Given the description of an element on the screen output the (x, y) to click on. 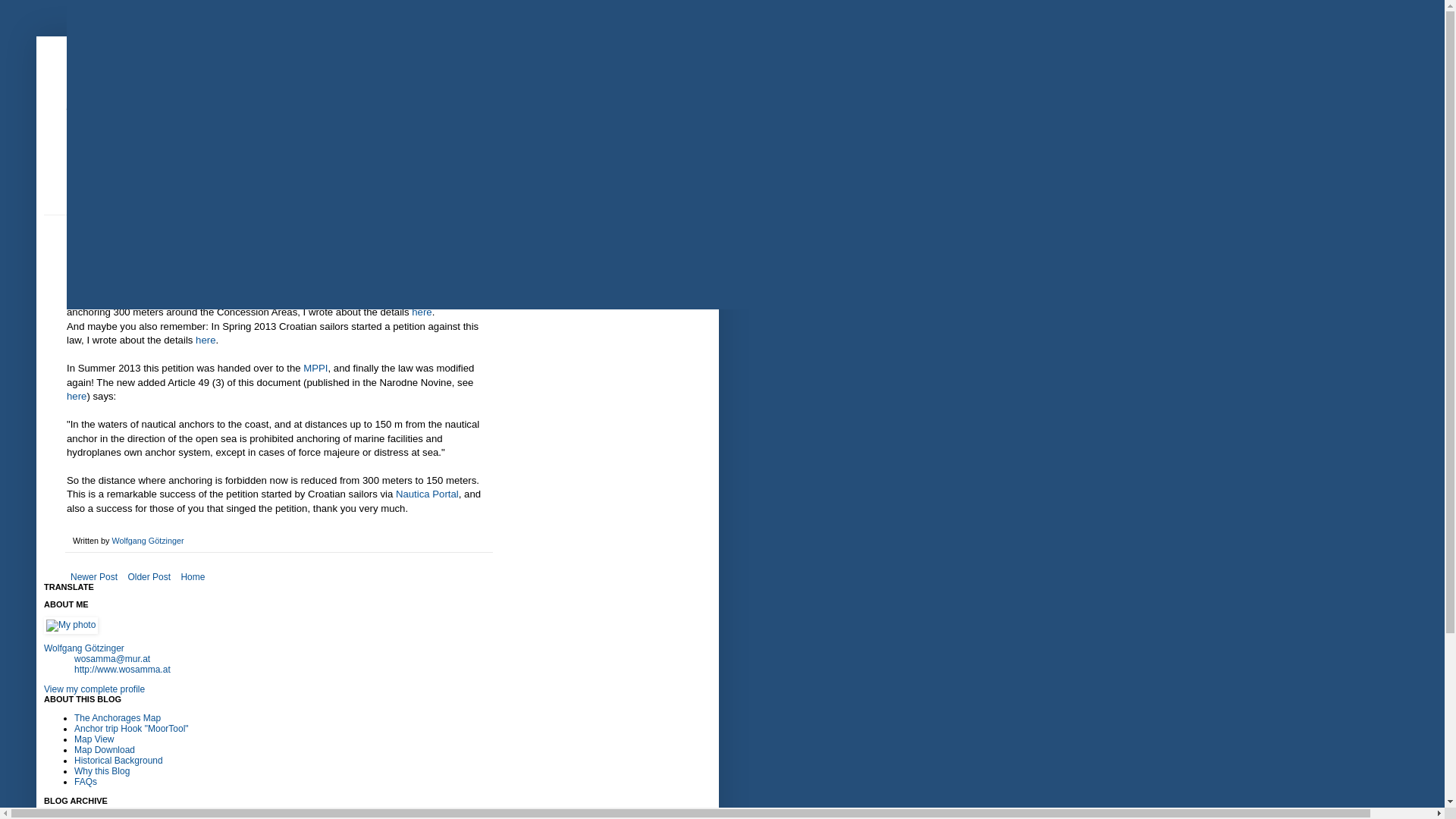
Anchorages in Croatia (223, 99)
Older Post (148, 577)
Nautica Portal (427, 493)
here (205, 339)
View my complete profile (93, 688)
MPPI (314, 367)
FAQs (85, 781)
Map View (93, 738)
Older Post (148, 577)
here (421, 311)
Historical Background (118, 760)
author profile (147, 540)
here (75, 396)
Map Download (104, 749)
Newer Post (93, 577)
